Given the description of an element on the screen output the (x, y) to click on. 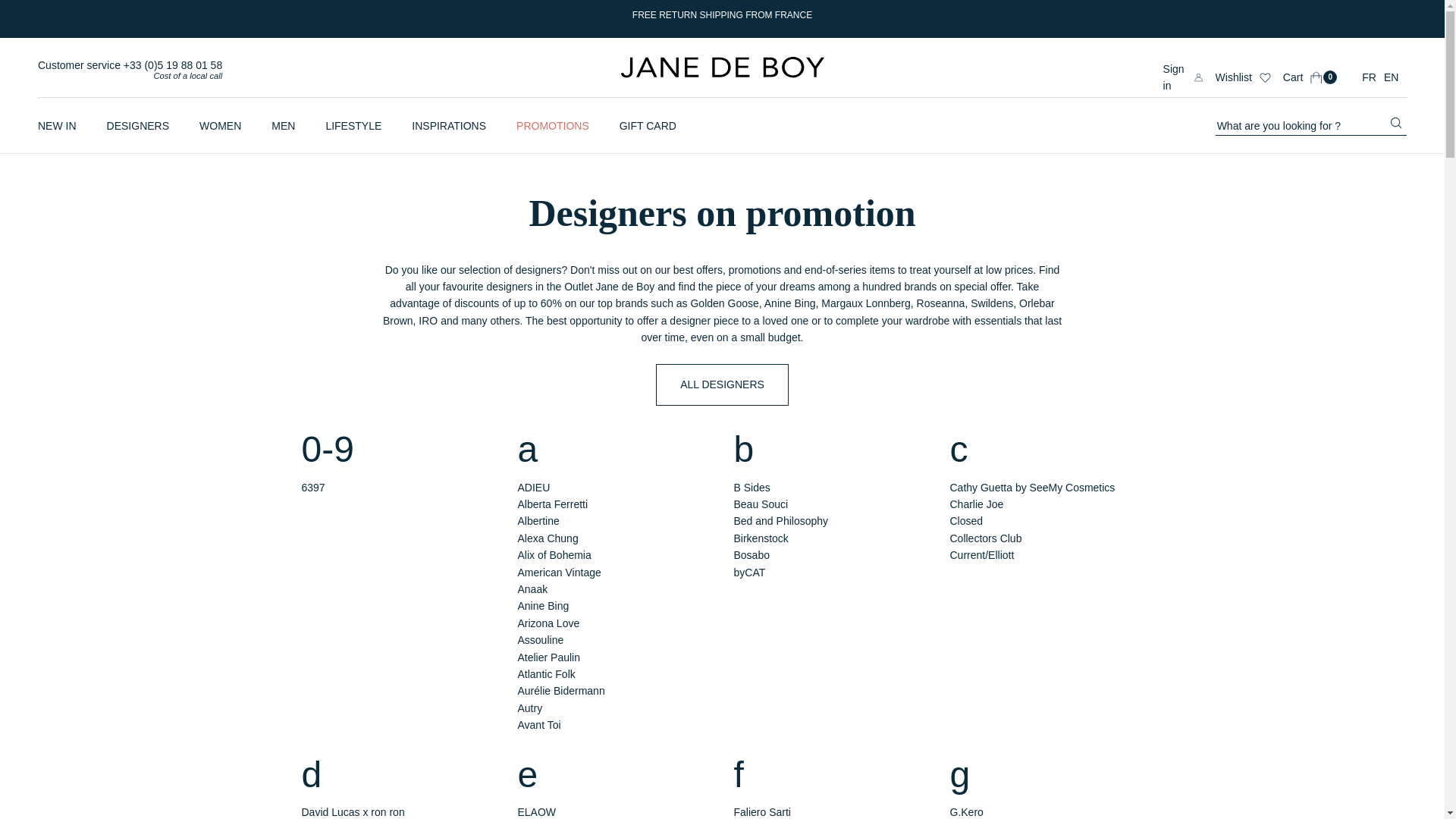
Sign in (1183, 77)
Logo Jane de Boy (722, 73)
Logo Jane de Boy (1309, 76)
Wishlist (722, 66)
DESIGNERS (1243, 76)
